Given the description of an element on the screen output the (x, y) to click on. 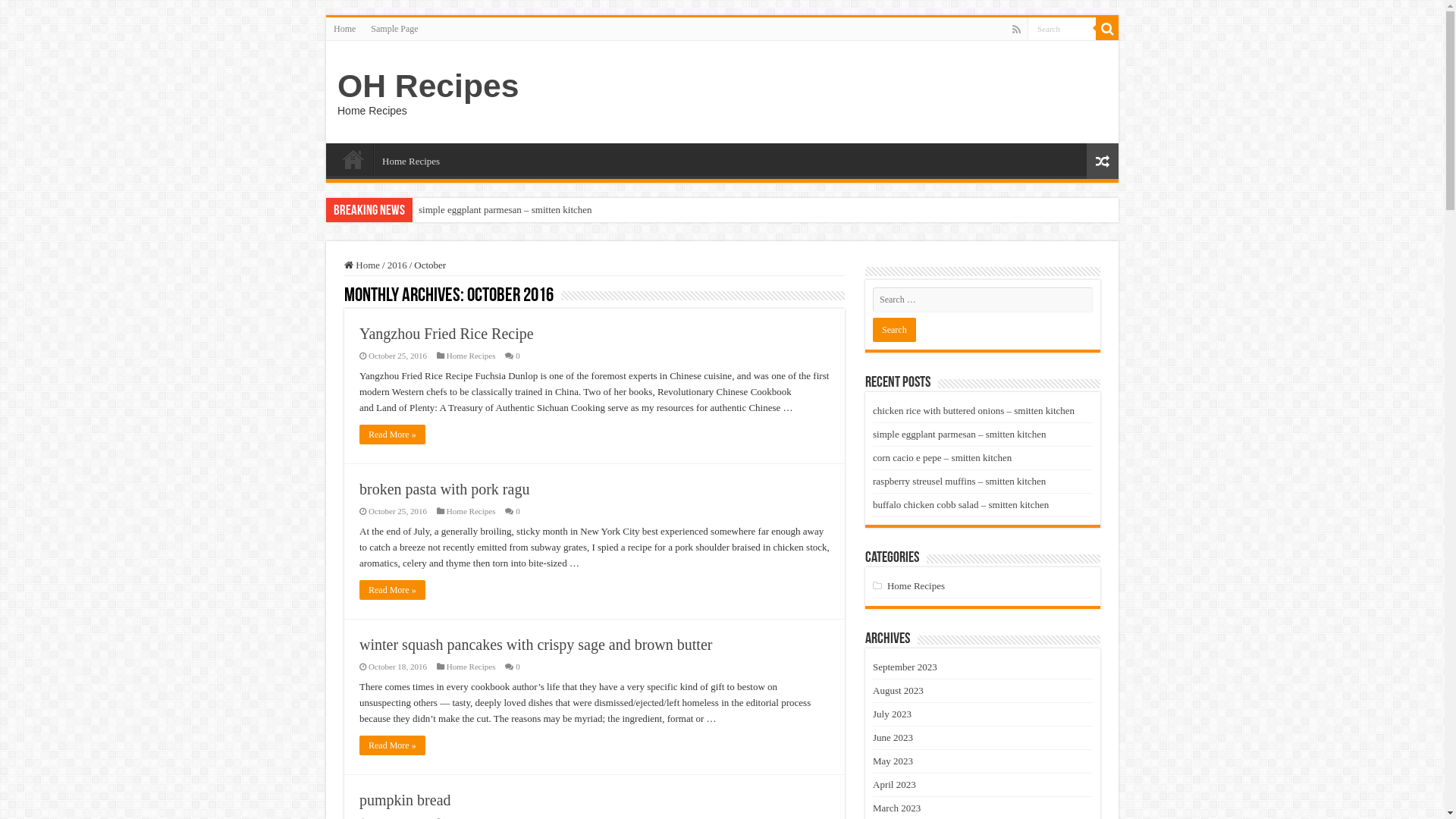
September 2023 Element type: text (904, 666)
May 2023 Element type: text (892, 760)
Sample Page Element type: text (394, 28)
Home Element type: text (353, 159)
June 2023 Element type: text (892, 737)
pumpkin bread Element type: text (405, 799)
2016 Element type: text (397, 264)
Home Recipes Element type: text (915, 585)
Home Recipes Element type: text (470, 355)
Search Element type: hover (1061, 28)
Home Element type: text (344, 28)
Search Element type: text (1106, 28)
winter squash pancakes with crispy sage and brown butter Element type: text (535, 644)
Yangzhou Fried Rice Recipe Element type: text (446, 333)
0 Element type: text (517, 510)
Search Element type: text (894, 329)
Rss Element type: hover (1016, 29)
Home Recipes Element type: text (470, 510)
0 Element type: text (517, 666)
July 2023 Element type: text (891, 713)
Home Recipes Element type: text (410, 159)
Home Element type: text (361, 264)
OH Recipes Element type: text (427, 85)
August 2023 Element type: text (897, 690)
Home Recipes Element type: text (470, 666)
April 2023 Element type: text (894, 784)
0 Element type: text (517, 355)
broken pasta with pork ragu Element type: text (444, 488)
March 2023 Element type: text (896, 807)
